Given the description of an element on the screen output the (x, y) to click on. 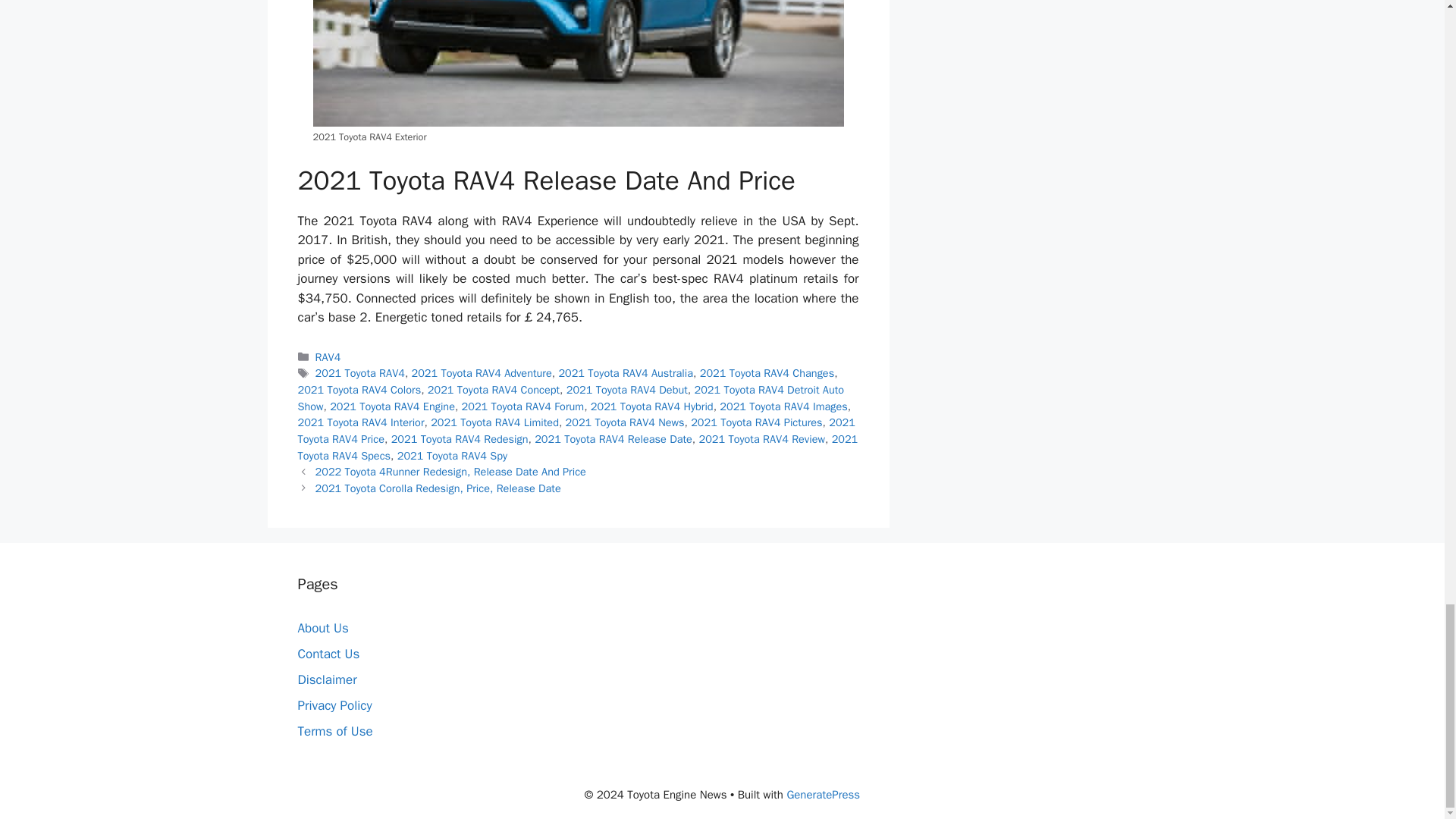
2021 Toyota RAV4 Pictures (756, 422)
2021 Toyota RAV4 Colors (358, 389)
2021 Toyota RAV4 Concept (493, 389)
2021 Toyota RAV4 Interior (360, 422)
2021 Toyota RAV4 Hybrid (652, 406)
2021 Toyota RAV4 Price (575, 430)
2021 Toyota RAV4 Debut (626, 389)
2021 Toyota RAV4 Limited (494, 422)
2021 Toyota RAV4 Review (761, 438)
2021 Toyota RAV4 Adventure (481, 373)
2021 Toyota RAV4 Images (783, 406)
2021 Toyota RAV4 Forum (523, 406)
2021 Toyota RAV4 Engine (392, 406)
2021 Toyota RAV4 Australia (625, 373)
2021 Toyota RAV4 Changes (767, 373)
